Given the description of an element on the screen output the (x, y) to click on. 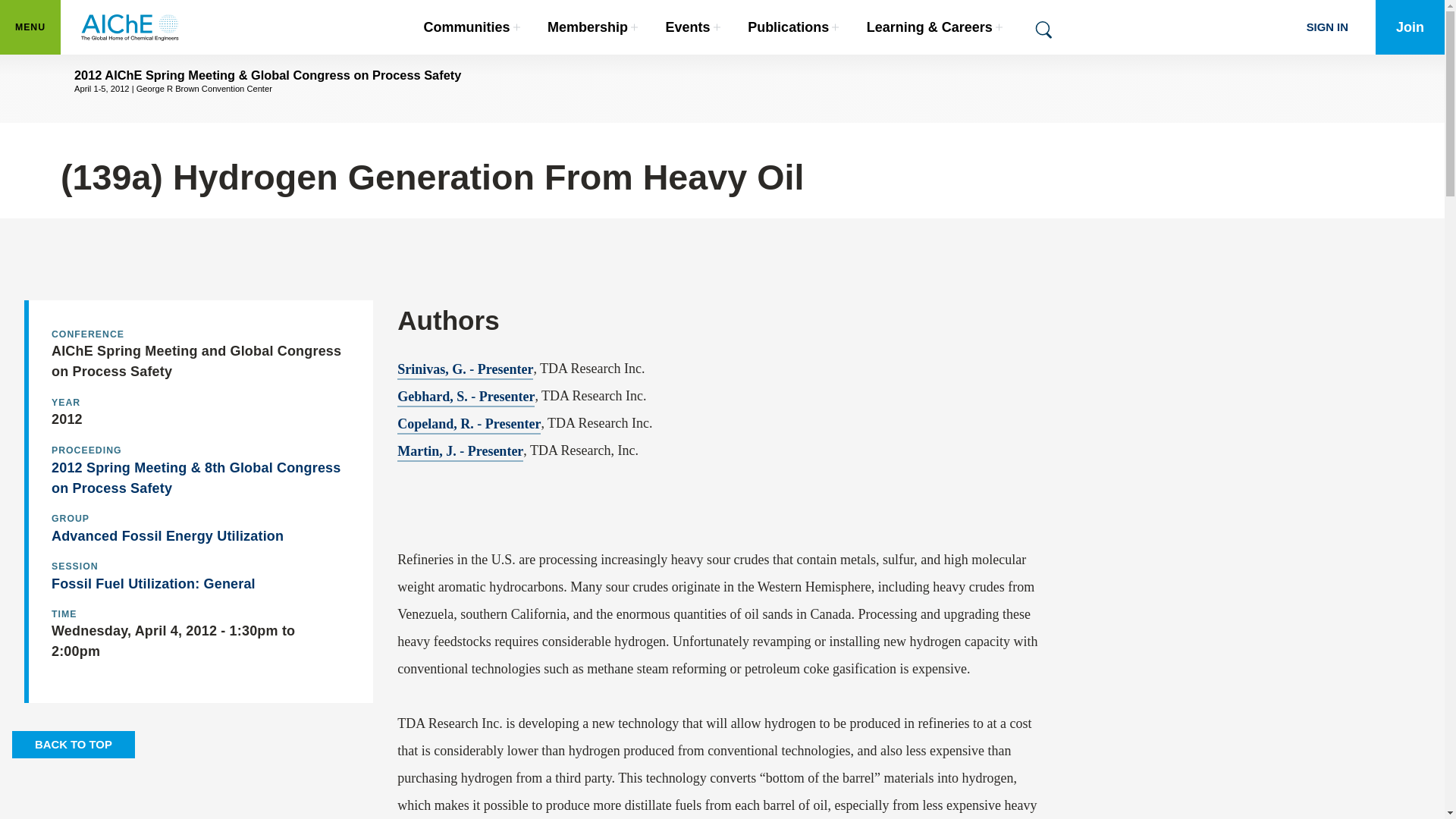
Go to AIChE Home (30, 27)
Skip to main content (472, 27)
